Given the description of an element on the screen output the (x, y) to click on. 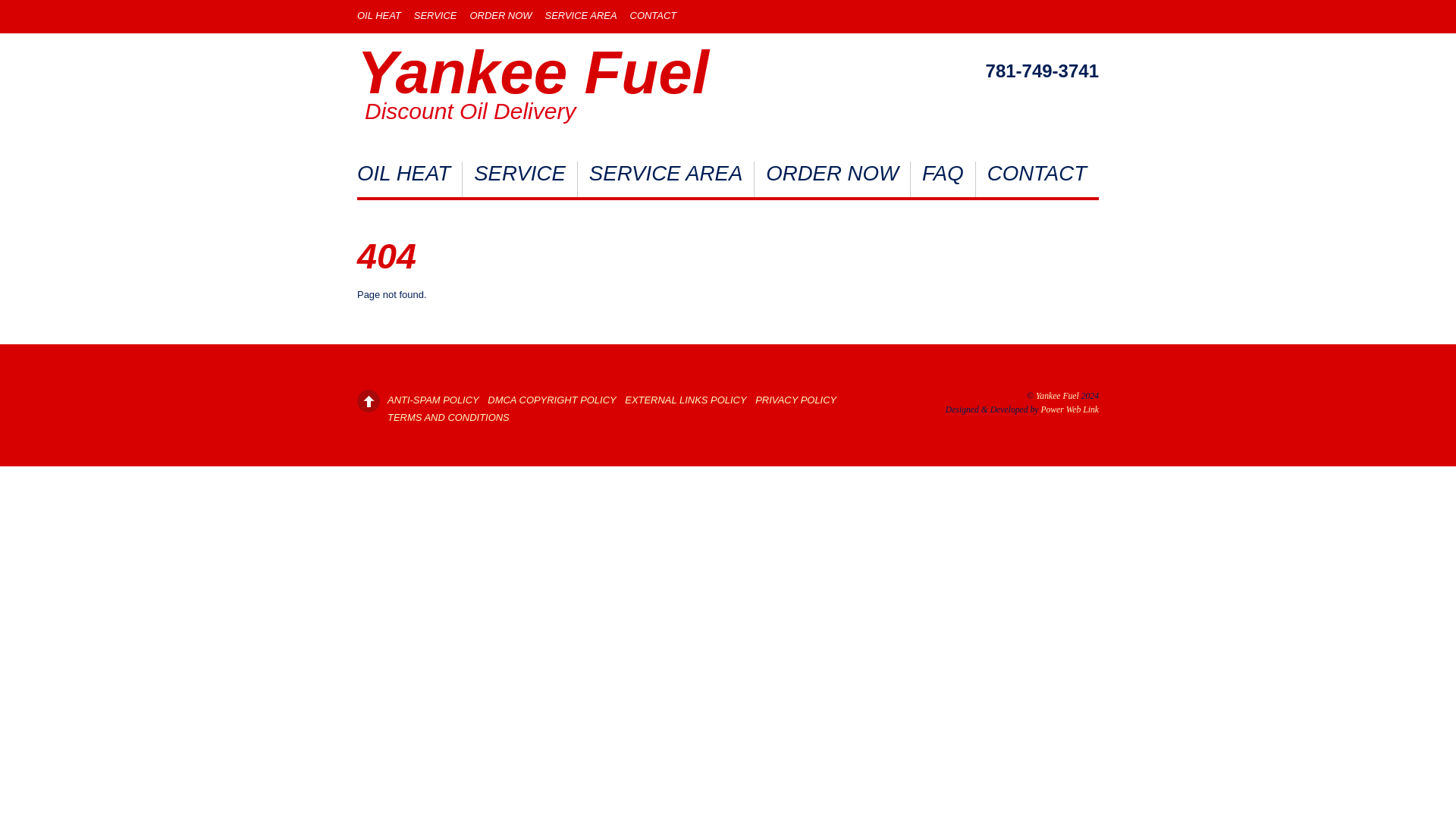
CONTACT (1036, 179)
OIL HEAT (378, 15)
FAQ (943, 179)
PRIVACY POLICY (795, 399)
SERVICE AREA (666, 179)
CONTACT (653, 15)
DMCA COPYRIGHT POLICY (551, 399)
SERVICE (435, 15)
Yankee Fuel (532, 72)
SERVICE AREA (580, 15)
Power Web Link (1070, 409)
SERVICE (520, 179)
ORDER NOW (499, 15)
TERMS AND CONDITIONS (448, 417)
ORDER NOW (832, 179)
